Given the description of an element on the screen output the (x, y) to click on. 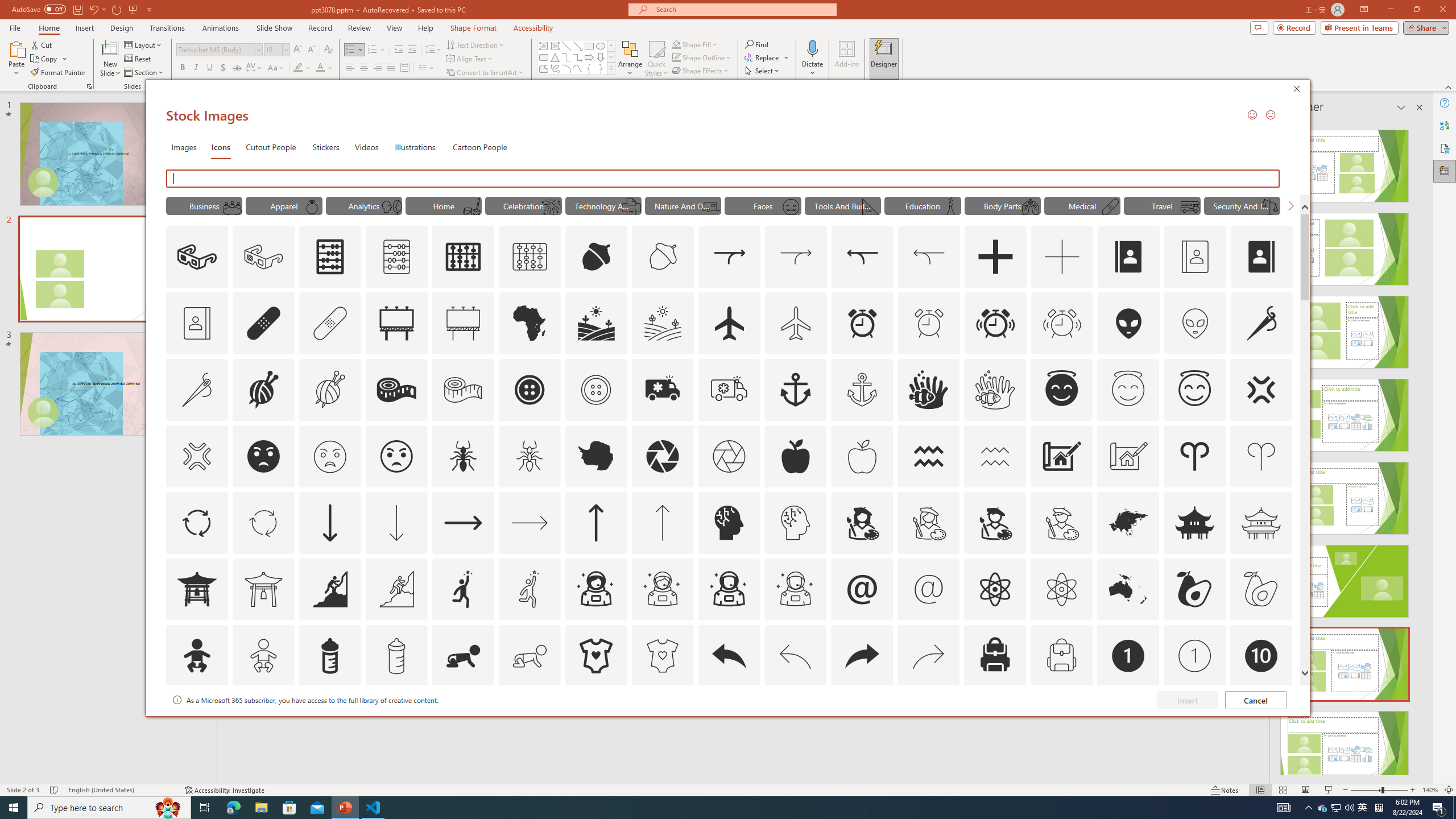
AutomationID: Icons_AddressBook_RTL (1261, 256)
AutomationID: Icons_Aries_M (1260, 455)
AutomationID: Icons_Apple_M (861, 455)
Character Spacing (254, 67)
AutomationID: Icons_AsianTemple_M (1260, 522)
AutomationID: Icons_Advertising_M (462, 323)
AutomationID: Icons_AngelFace_M (1128, 389)
AutomationID: Icons_ArtistMale_M (1061, 522)
AutomationID: Icons_AlterationsTailoring3_M (595, 389)
AutomationID: Icons_ArrowDown (329, 522)
